Given the description of an element on the screen output the (x, y) to click on. 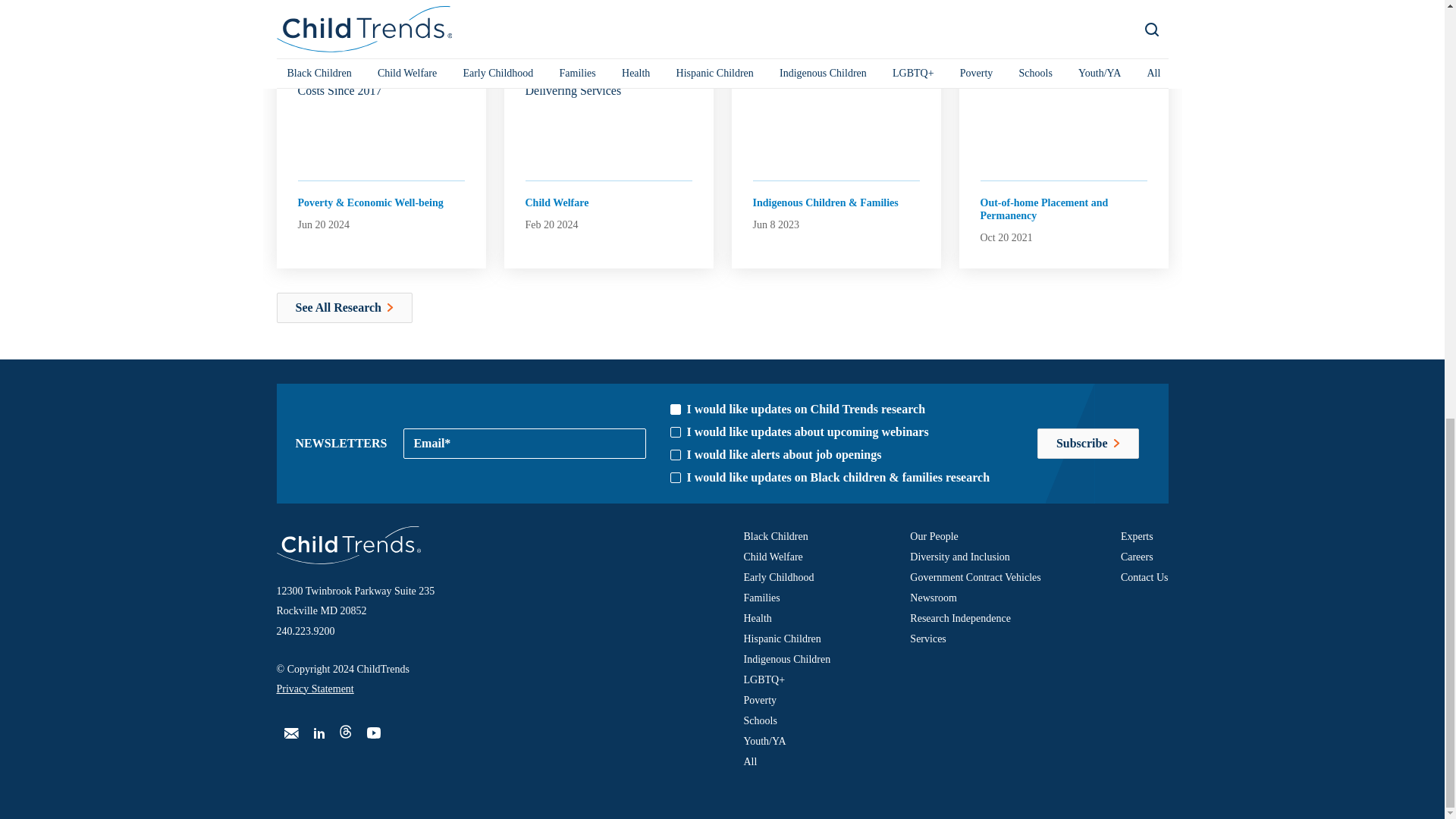
See All Research (344, 307)
Child Welfare (556, 201)
Creating Policies to Better Serve Diverse AANHPI Populations (835, 55)
Foster Youth Strategic Initiative 2020 Evaluation Report (1063, 55)
Out-of-home Placement and Permanency (1056, 208)
